Given the description of an element on the screen output the (x, y) to click on. 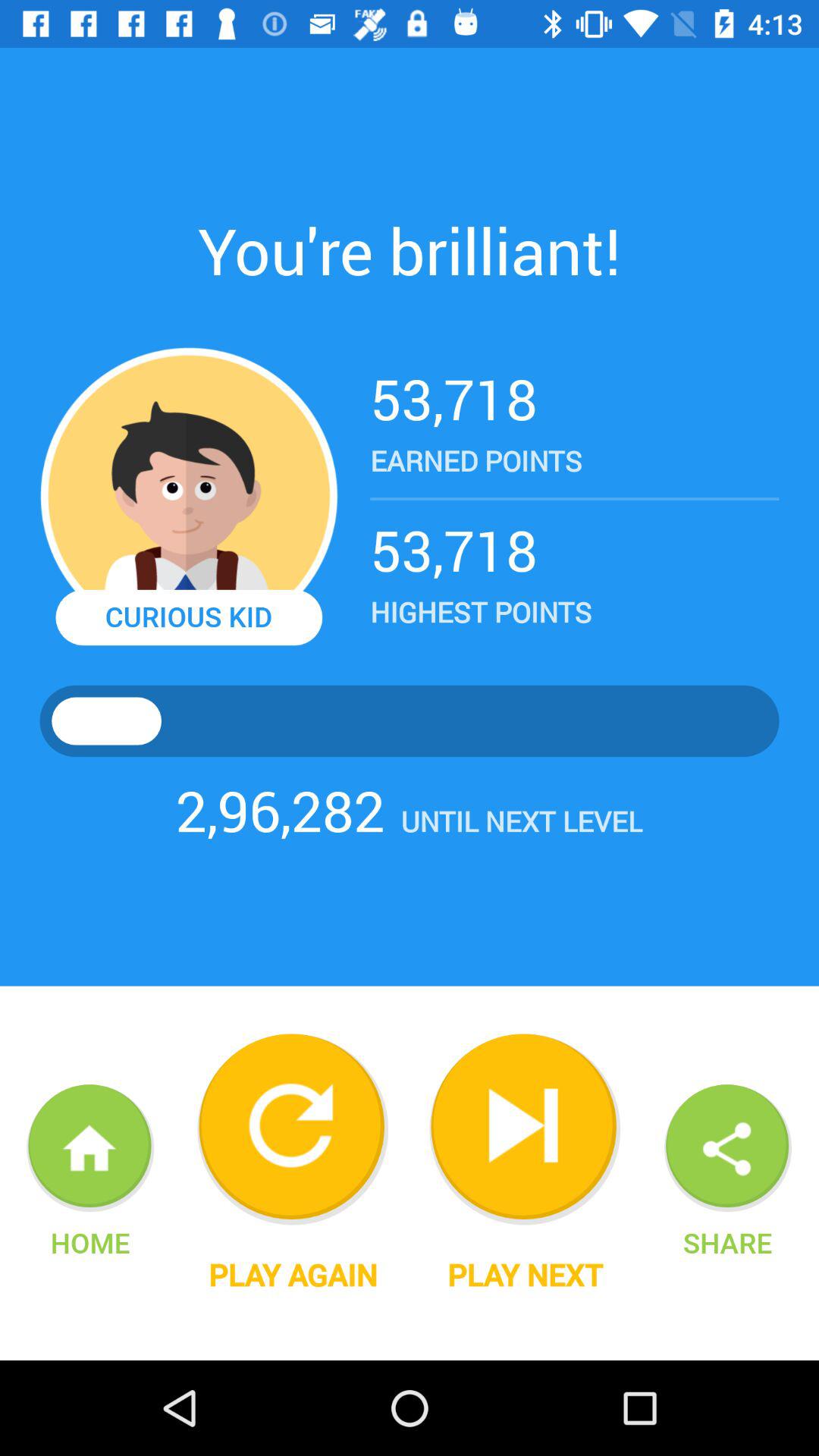
turn on item to the left of share (524, 1274)
